Given the description of an element on the screen output the (x, y) to click on. 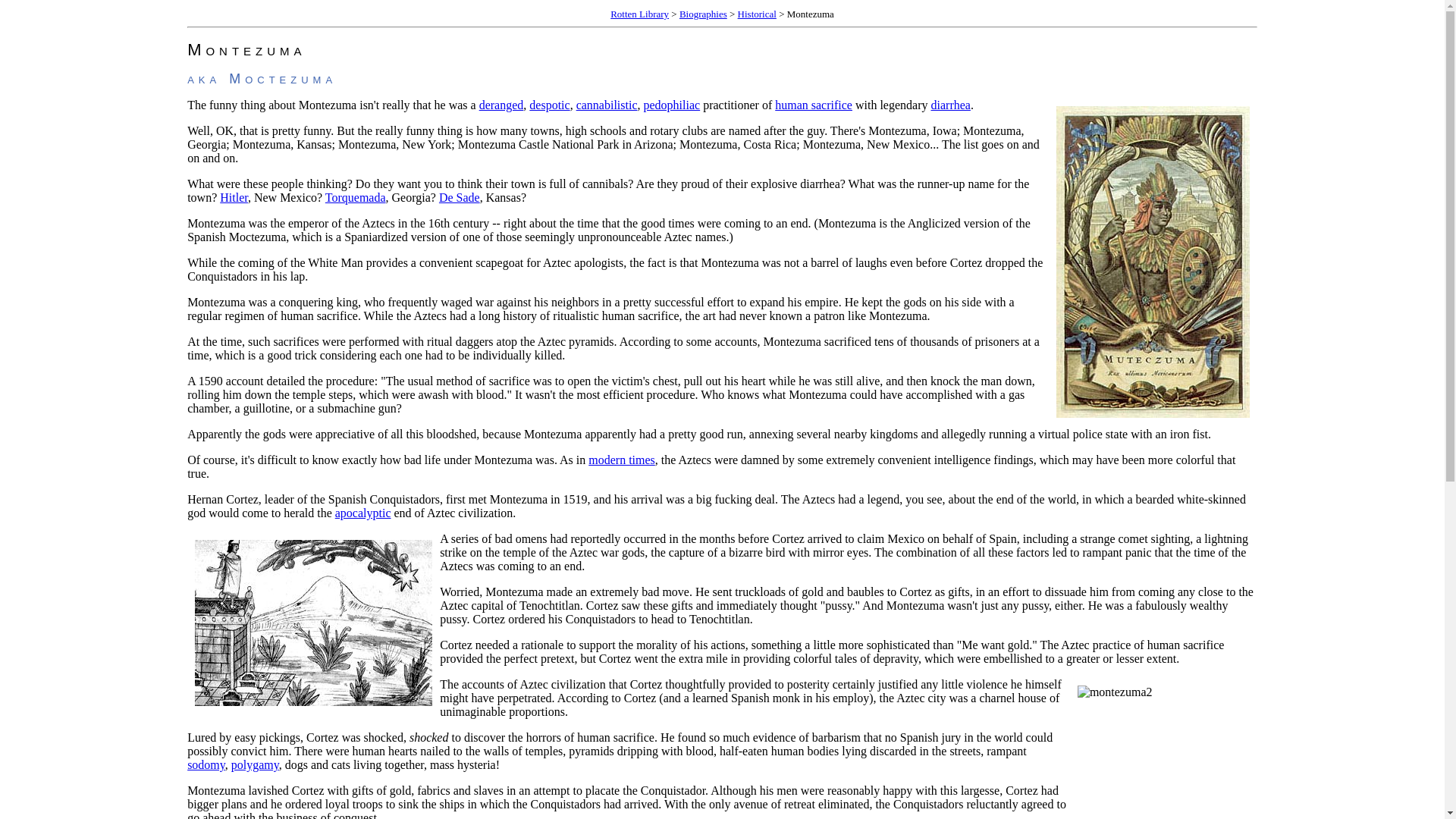
human sacrifice (812, 104)
Hitler (233, 196)
Torquemada (354, 196)
deranged (501, 104)
modern times (621, 459)
pedophiliac (671, 104)
cannabilistic (606, 104)
Biographies (702, 13)
despotic (549, 104)
Historical (757, 13)
diarrhea (951, 104)
sodomy (206, 764)
polygamy (255, 764)
apocalyptic (362, 512)
De Sade (459, 196)
